Given the description of an element on the screen output the (x, y) to click on. 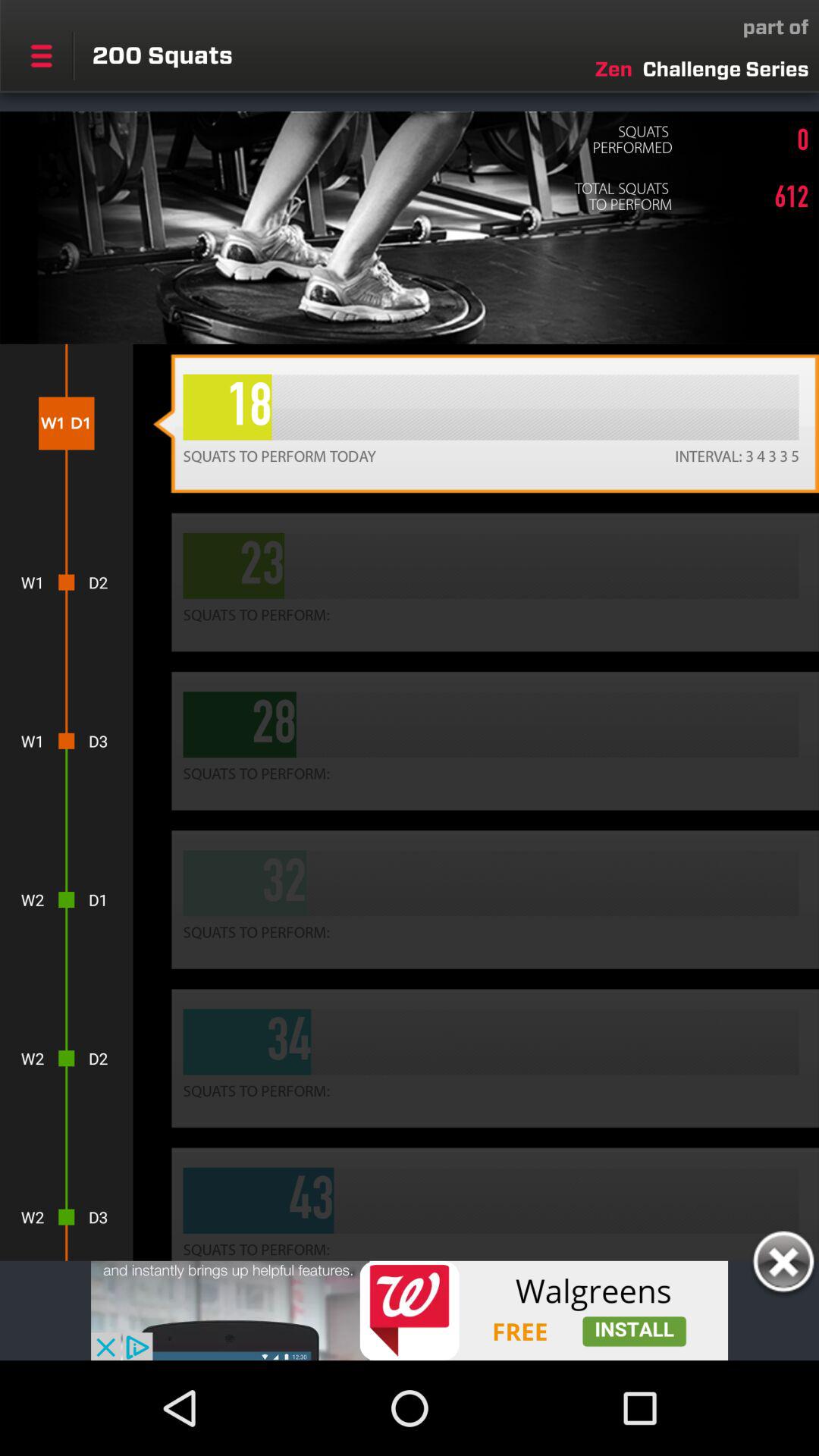
launch advertisement link (409, 1310)
